Given the description of an element on the screen output the (x, y) to click on. 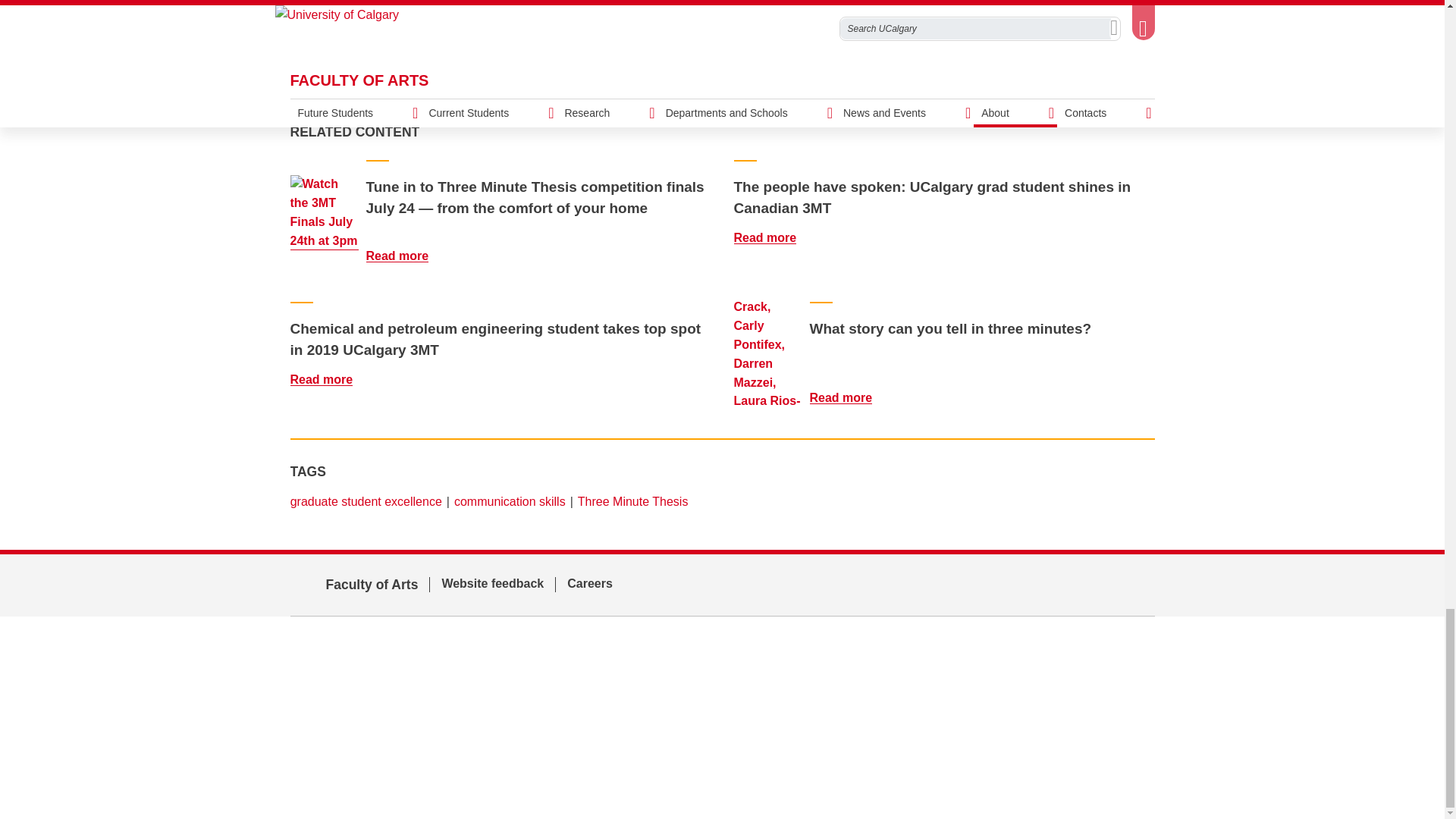
What story can you tell in three minutes? (850, 397)
